Given the description of an element on the screen output the (x, y) to click on. 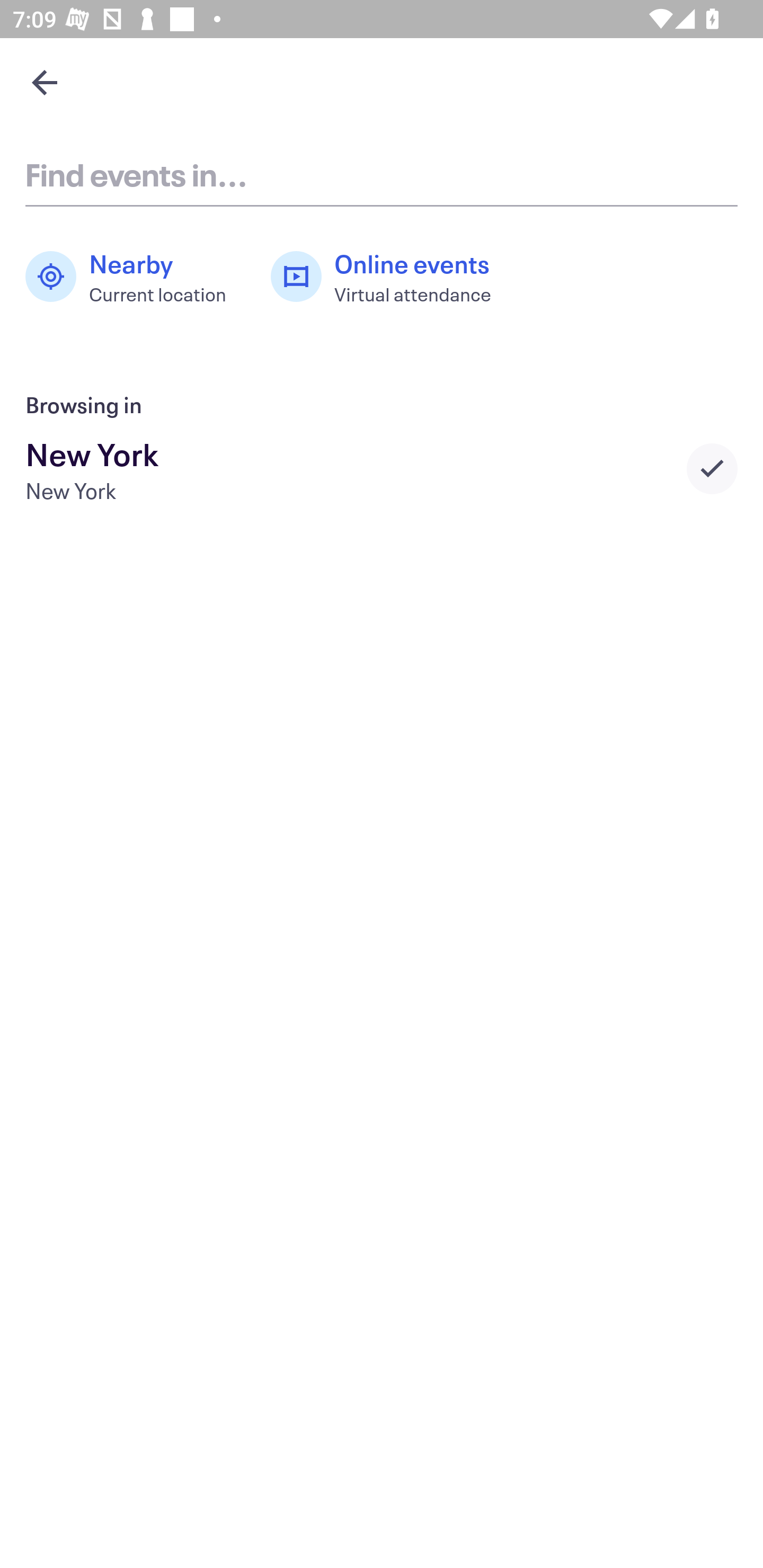
Navigate up (44, 82)
Find events in... (381, 173)
Nearby Current location (135, 276)
Online events Virtual attendance (390, 276)
New York New York Selected city (381, 468)
